Given the description of an element on the screen output the (x, y) to click on. 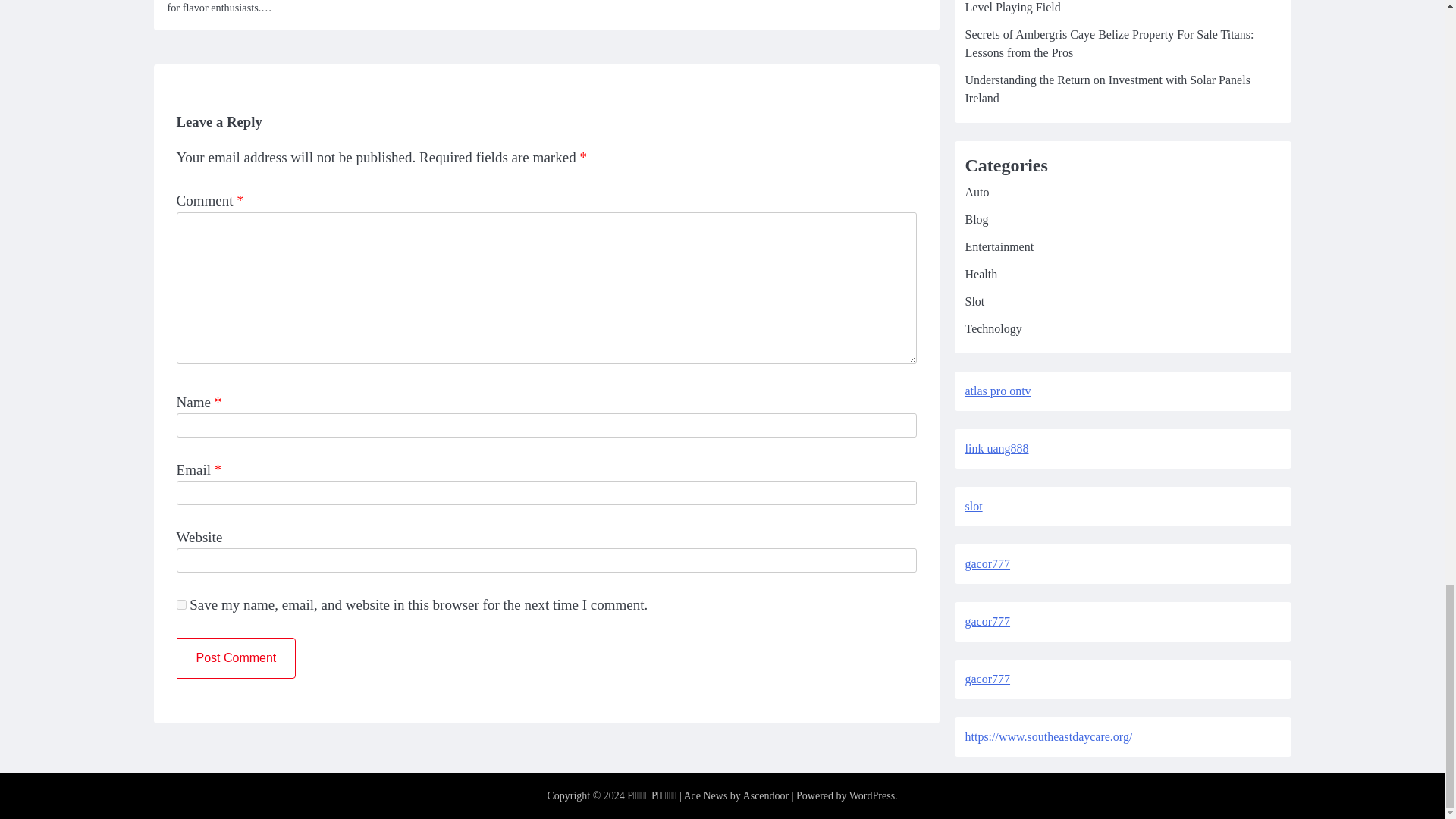
Post Comment (235, 658)
Post Comment (235, 658)
yes (181, 604)
